Given the description of an element on the screen output the (x, y) to click on. 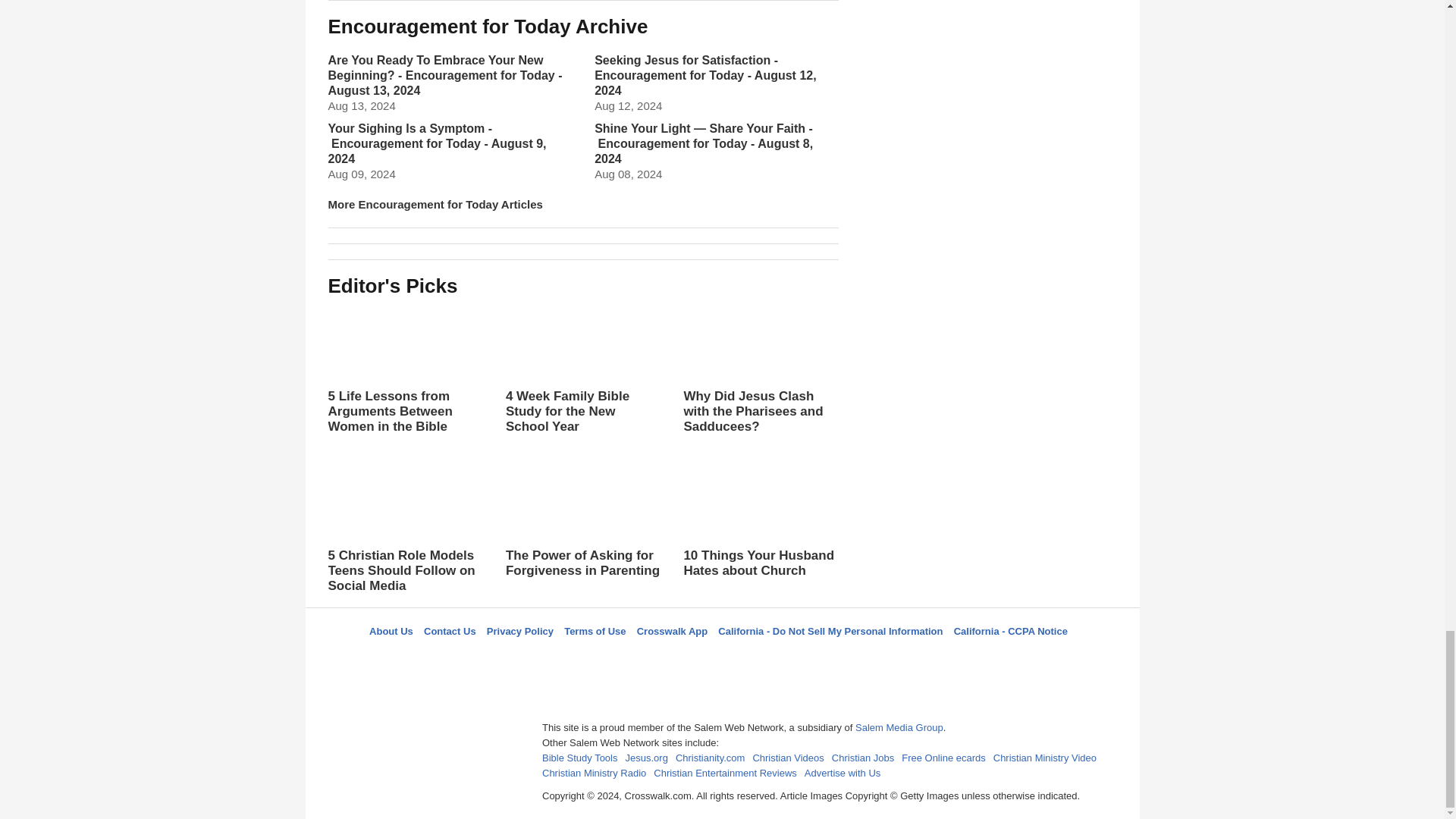
YouTube (795, 658)
5 Christian Role Models Teens Should Follow on Social Media (404, 528)
10 Things Your Husband Hates about Church (760, 520)
The Power of Asking for Forgiveness in Parenting (583, 535)
4 Week Family Bible Study for the New School Year (583, 383)
Twitter (683, 658)
Why Did Jesus Clash with the Pharisees and Sadducees? (760, 368)
LifeAudio (719, 658)
5 Life Lessons from Arguments Between Women in the Bible (404, 368)
Pinterest (757, 658)
